Given the description of an element on the screen output the (x, y) to click on. 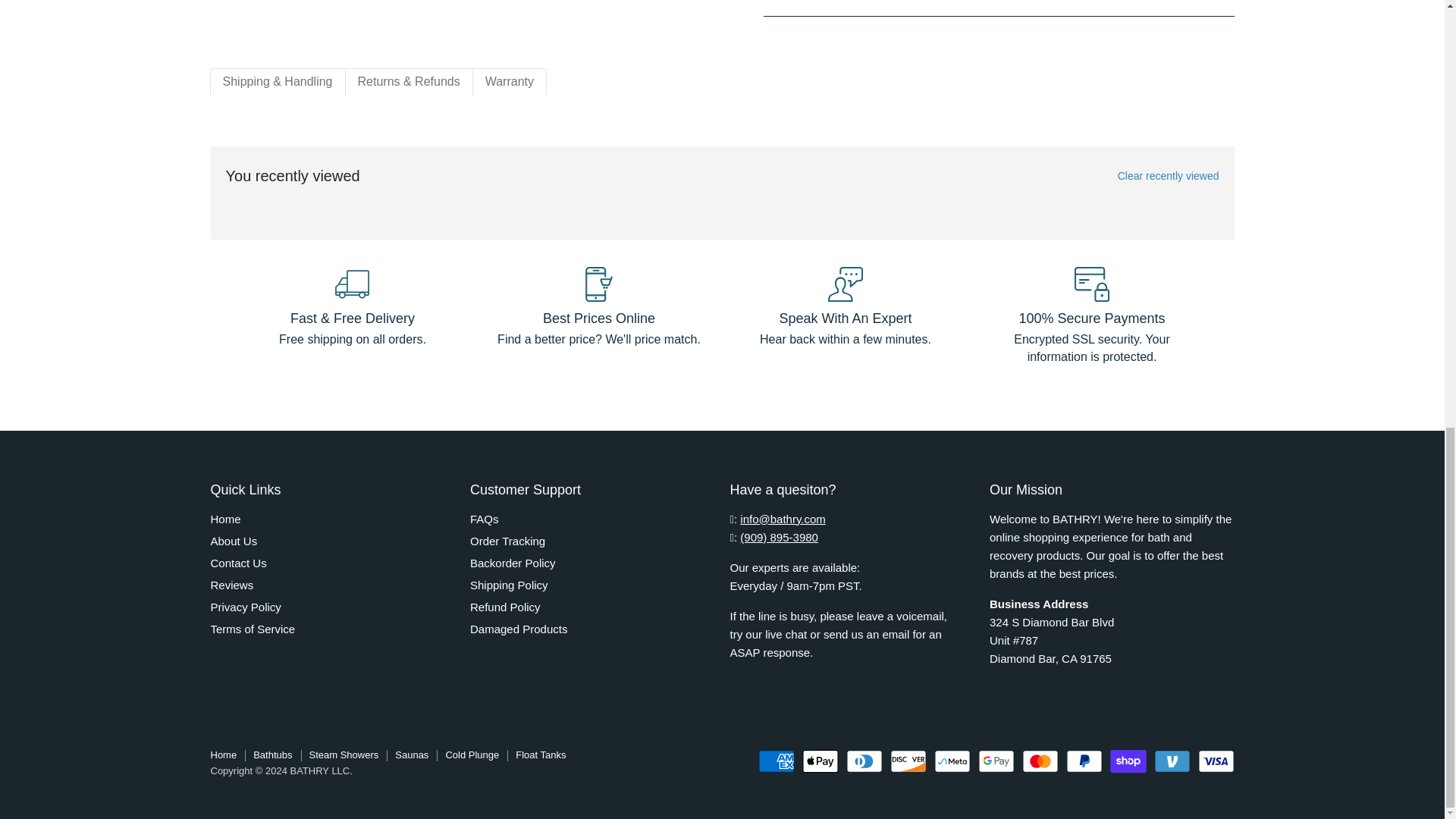
American Express (776, 761)
Meta Pay (952, 761)
Apple Pay (820, 761)
Discover (907, 761)
Diners Club (863, 761)
